Given the description of an element on the screen output the (x, y) to click on. 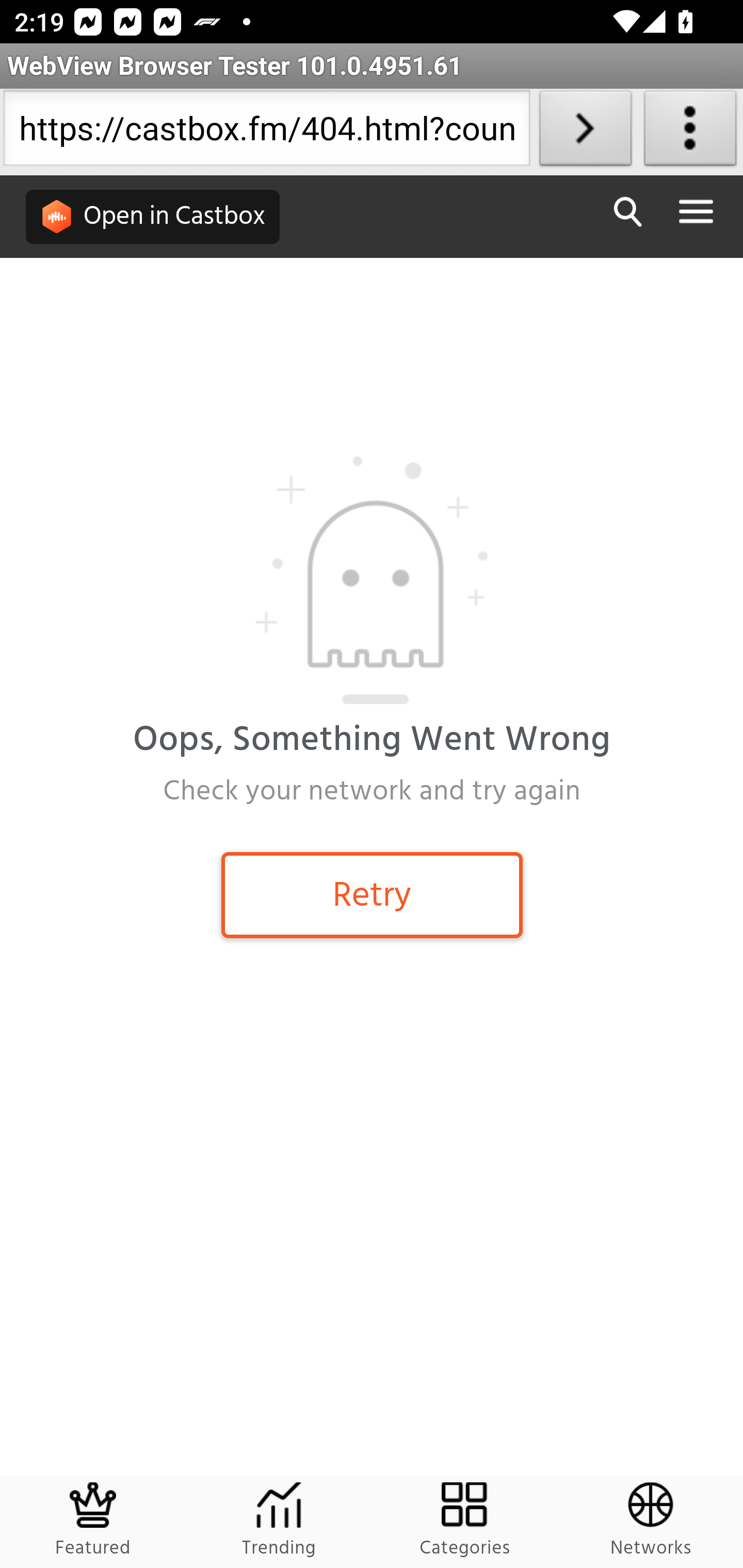
Load URL (585, 132)
About WebView (690, 132)
Retry (371, 894)
Featured (93, 1521)
Trending (278, 1521)
Categories (465, 1521)
Networks (649, 1521)
